Given the description of an element on the screen output the (x, y) to click on. 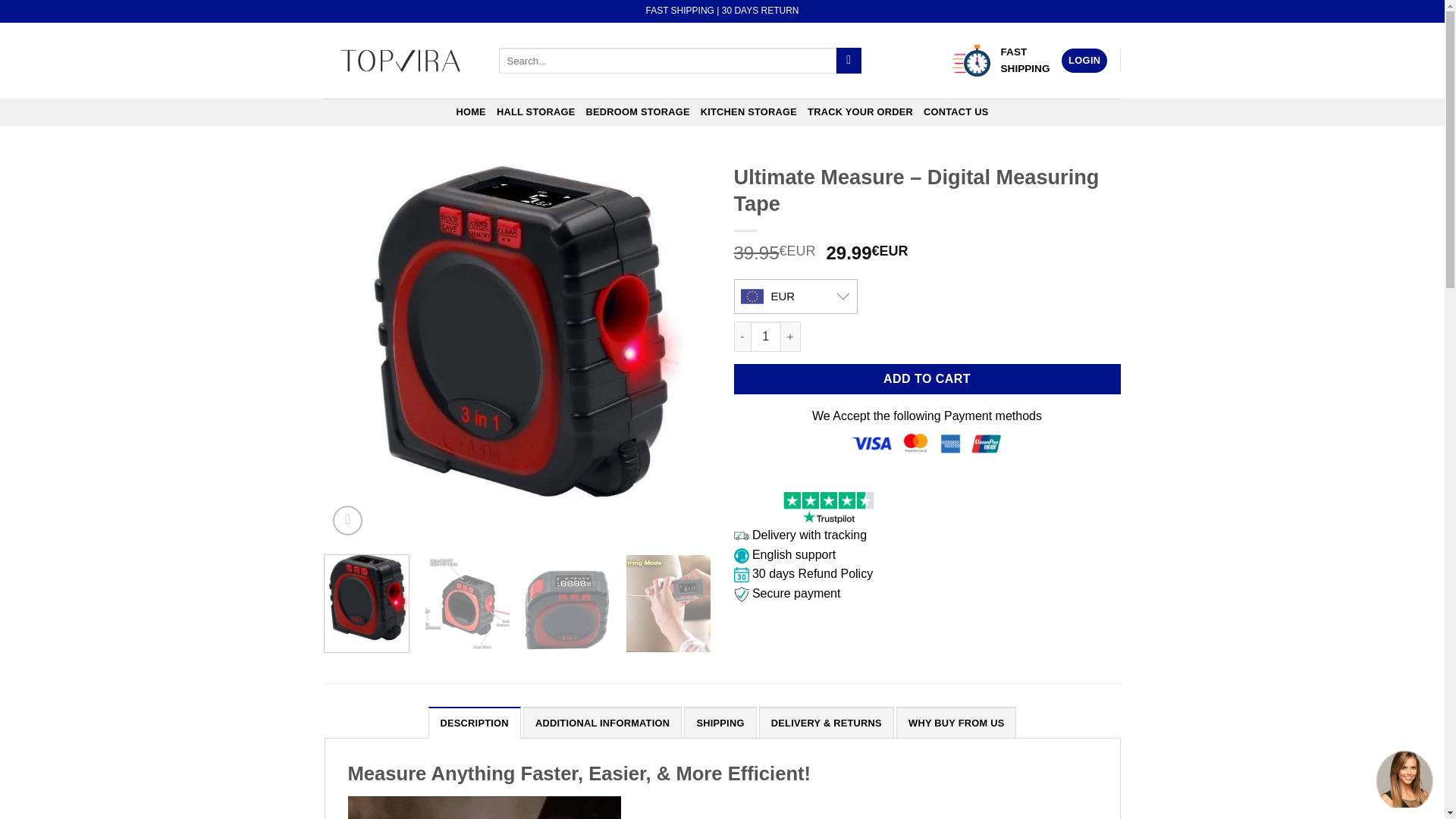
Zoom (347, 520)
KITCHEN STORAGE (748, 112)
DESCRIPTION (474, 722)
Fast Shipping (971, 60)
Topvira (400, 60)
Ultimate Measure - Digital Measuring Tape 12 (483, 807)
HOME (469, 112)
TRACK YOUR ORDER (860, 112)
BEDROOM STORAGE (636, 112)
LOGIN (1083, 60)
ADD TO CART (927, 378)
WHY BUY FROM US (956, 722)
SHIPPING (719, 722)
ADDITIONAL INFORMATION (601, 722)
